Given the description of an element on the screen output the (x, y) to click on. 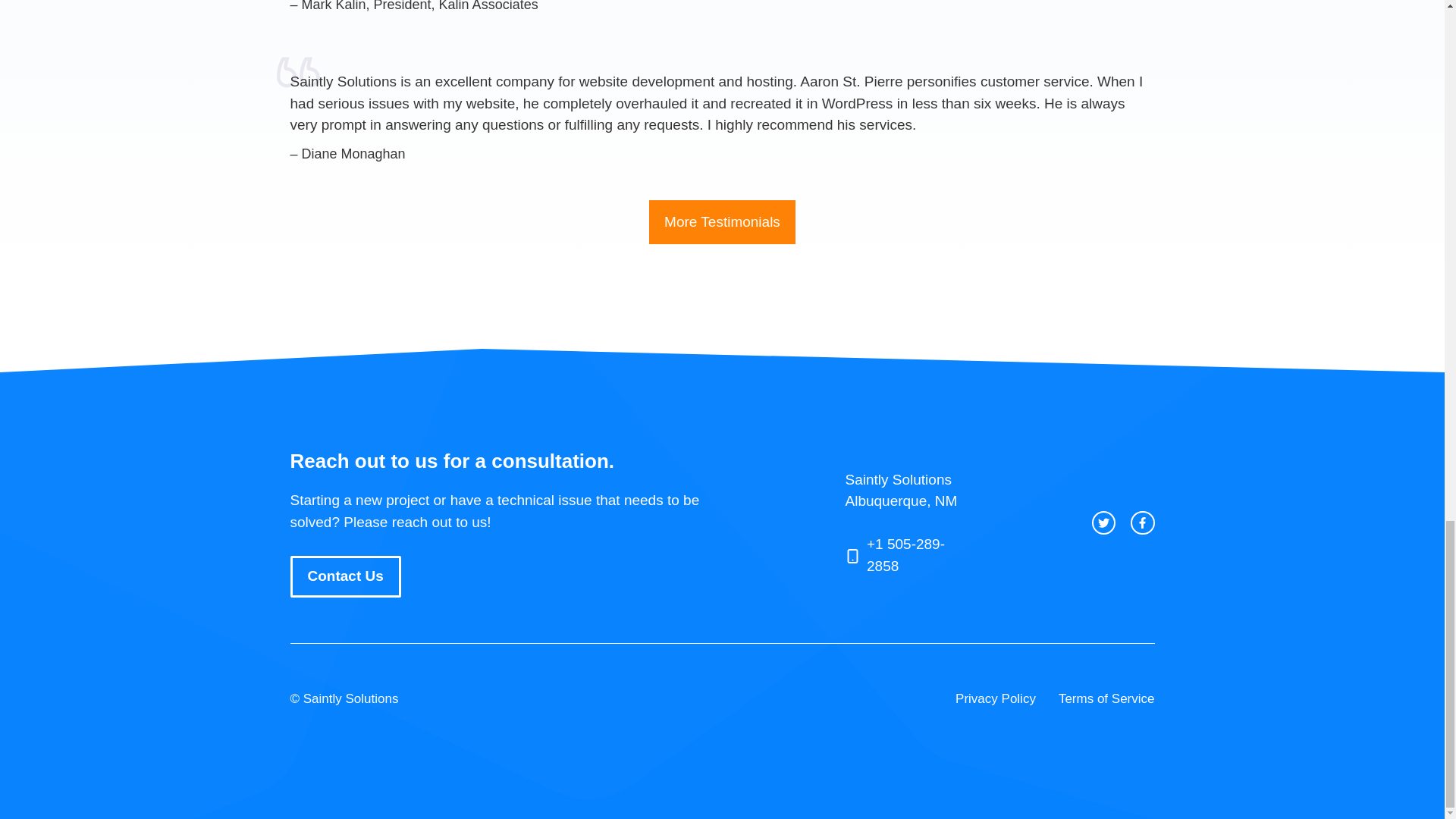
Terms of Service (1106, 698)
Privacy Policy (995, 698)
Saintly Solutions (350, 698)
Contact Us (344, 576)
